Given the description of an element on the screen output the (x, y) to click on. 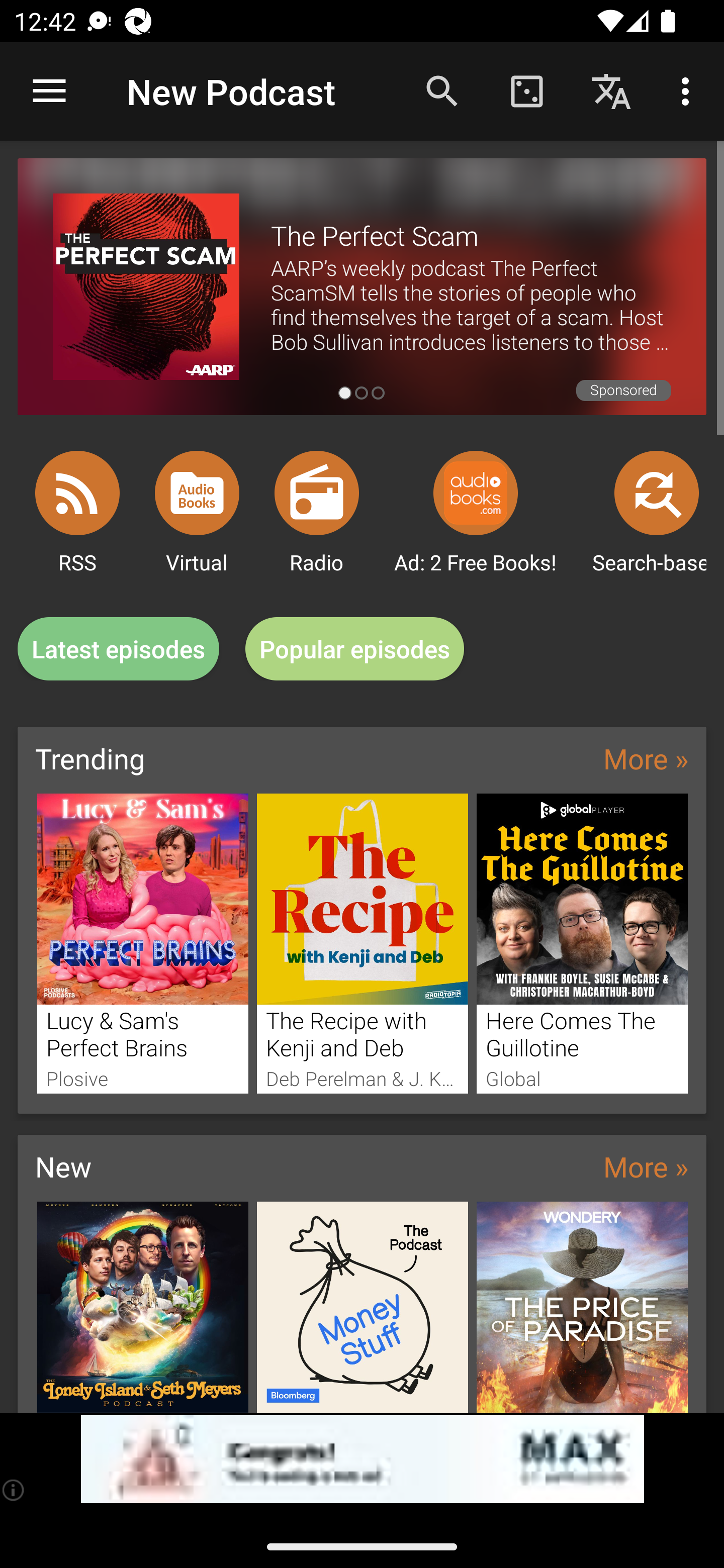
Open navigation sidebar (49, 91)
Search (442, 90)
Random pick (526, 90)
Podcast languages (611, 90)
More options (688, 90)
RSS (77, 492)
Virtual (196, 492)
Radio (316, 492)
Search-based (656, 492)
Latest episodes (118, 648)
Popular episodes (354, 648)
More » (645, 757)
Lucy & Sam's Perfect Brains Plosive (142, 942)
Here Comes The Guillotine Global (581, 942)
More » (645, 1166)
The Lonely Island and Seth Meyers Podcast (142, 1306)
Money Stuff: The Podcast (362, 1306)
The Price of Paradise (581, 1306)
app-monetization (362, 1459)
(i) (14, 1489)
